Given the description of an element on the screen output the (x, y) to click on. 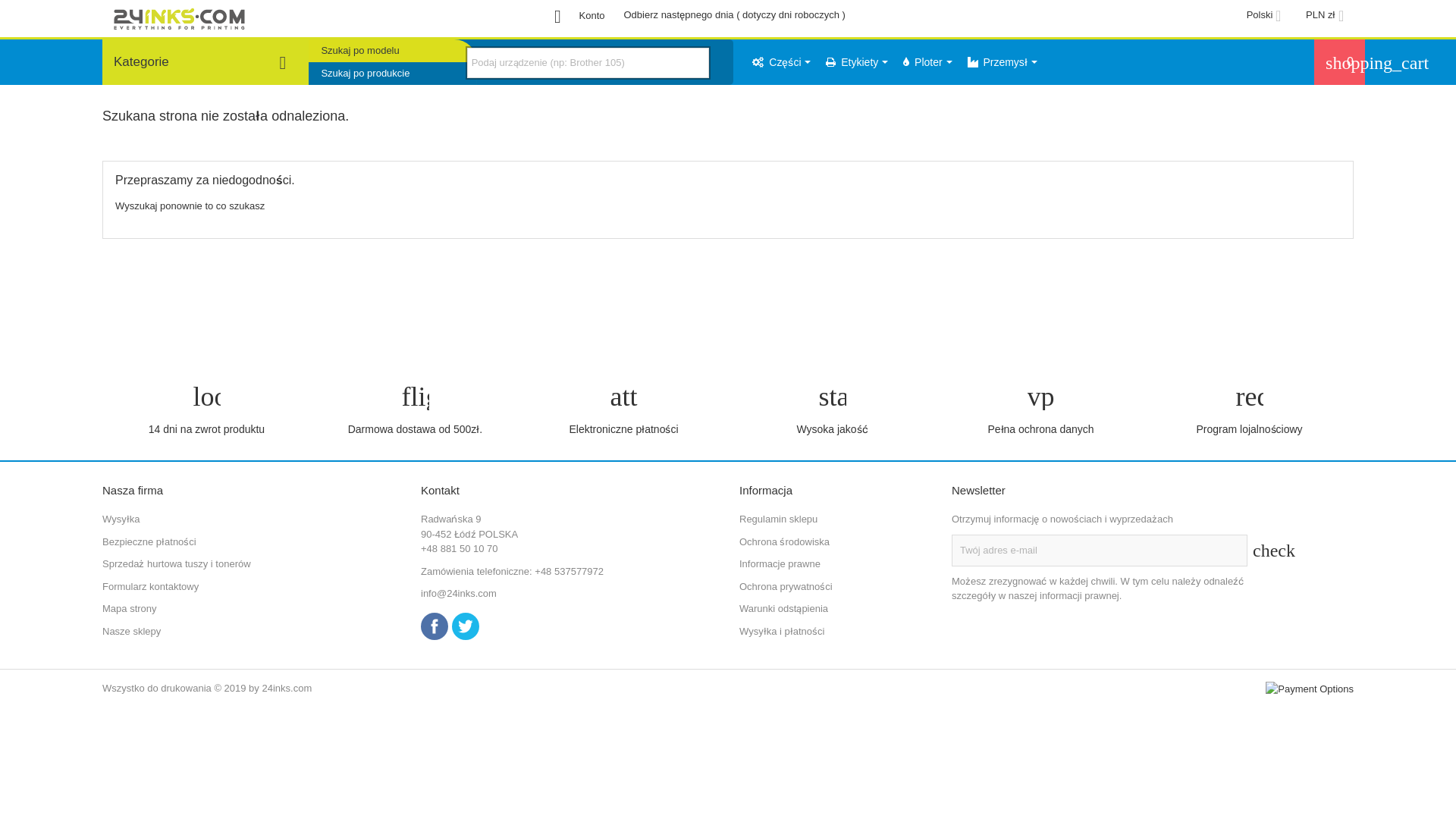
Nasze sklepy Element type: text (131, 631)
loop
14 dni na zwrot produktu Element type: text (206, 409)
Informacje prawne Element type: text (779, 563)
Szukaj po produkcie Element type: text (392, 73)
Formularz kontaktowy Element type: text (150, 586)
Facebook Element type: hover (434, 626)
Etykiety Element type: text (856, 61)
Szukaj po modelu Element type: text (392, 50)
check Element type: text (1261, 550)
Regulamin sklepu Element type: text (778, 518)
Ploter Element type: text (927, 61)
Twitter Element type: hover (465, 626)
Mapa strony Element type: text (129, 608)
